Given the description of an element on the screen output the (x, y) to click on. 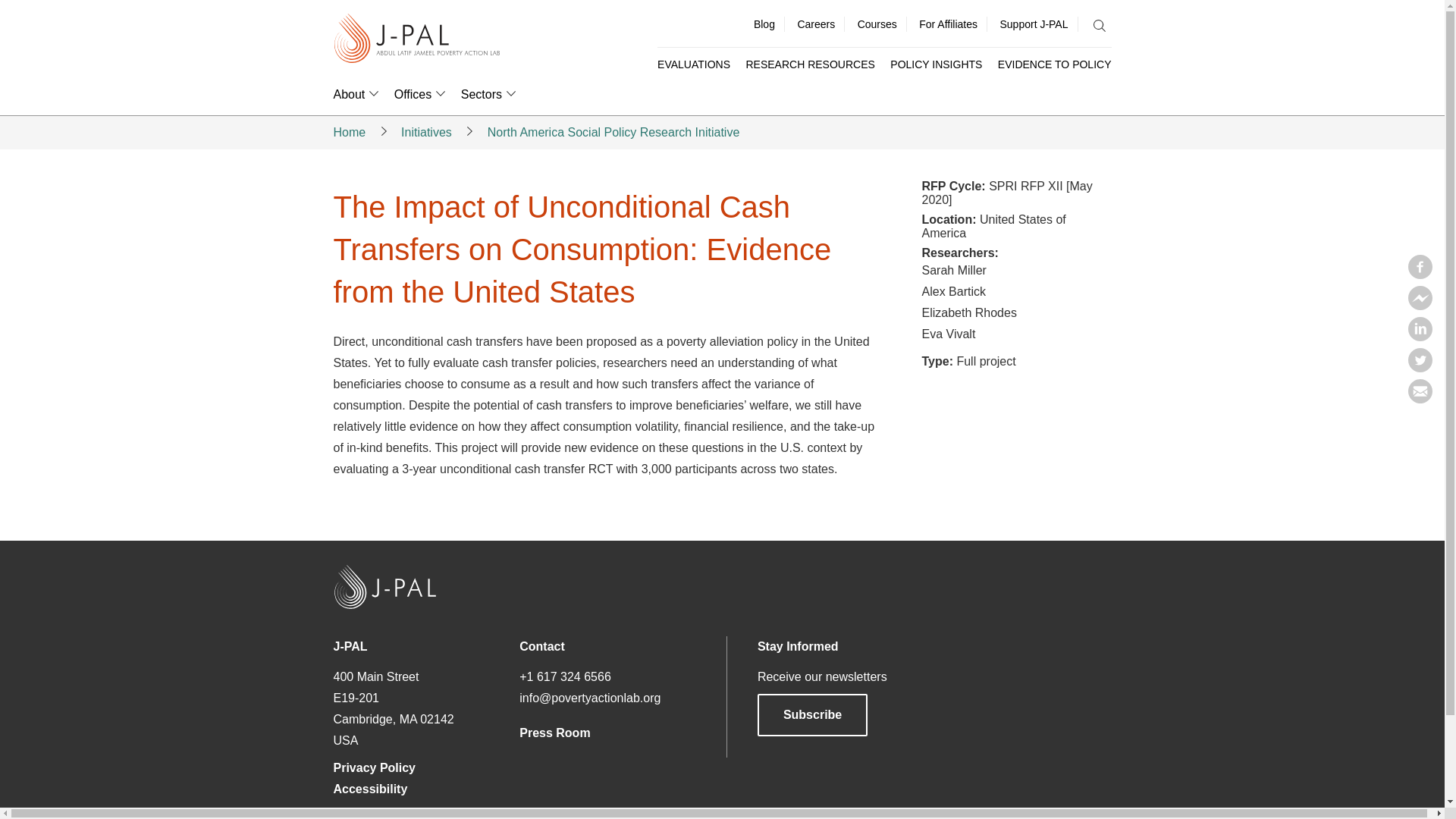
Email (1419, 399)
Facebook messenger (1419, 305)
Twitter (1419, 367)
J-PAL (416, 39)
Facebook (1419, 274)
Linkedin (1419, 336)
